Given the description of an element on the screen output the (x, y) to click on. 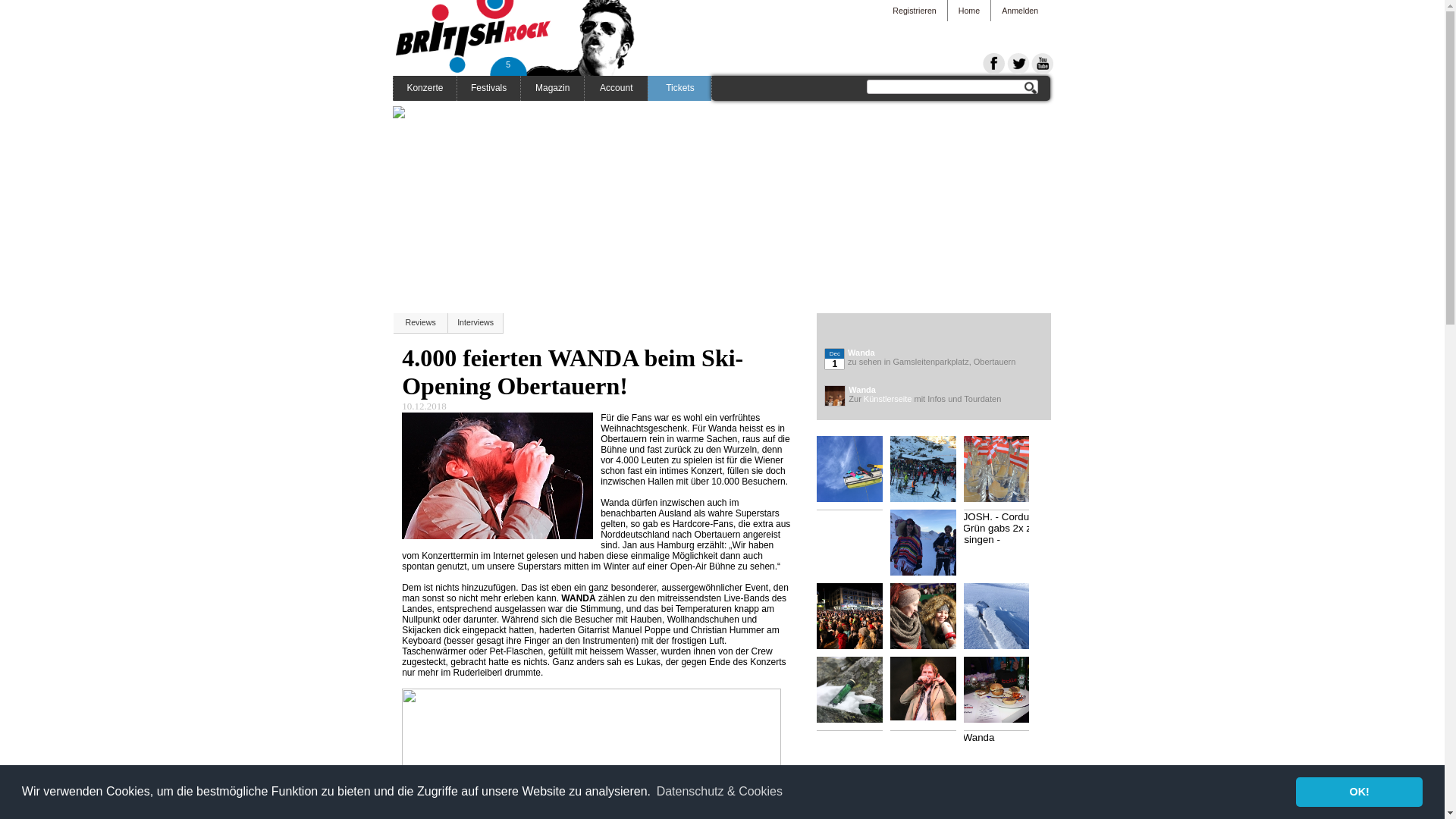
Konzerte Element type: text (424, 87)
Account Element type: text (615, 87)
2996 Element type: text (855, 618)
2993 Element type: text (855, 562)
Wanda Element type: text (861, 352)
2997 Element type: text (928, 618)
Home Element type: text (968, 10)
2994 Element type: text (928, 549)
Registrieren Element type: text (913, 10)
Wanda Element type: hover (928, 688)
2999 Element type: text (855, 696)
2992 Element type: text (1002, 475)
3001 Element type: text (1002, 691)
Magazin Element type: text (551, 87)
Gib mir Schnaps! -  Element type: hover (1002, 475)
Datenschutz & Cookies Element type: text (718, 791)
3000 Element type: text (928, 688)
Anmelden Element type: text (1019, 10)
2991 Element type: text (928, 475)
Tickets Element type: text (679, 87)
Festivals Element type: text (488, 87)
OK! Element type: text (1358, 791)
2995 Element type: text (1002, 562)
Interviews Element type: text (475, 323)
2998 Element type: text (1002, 622)
Reviews Element type: text (420, 323)
2990 Element type: text (855, 475)
